Given the description of an element on the screen output the (x, y) to click on. 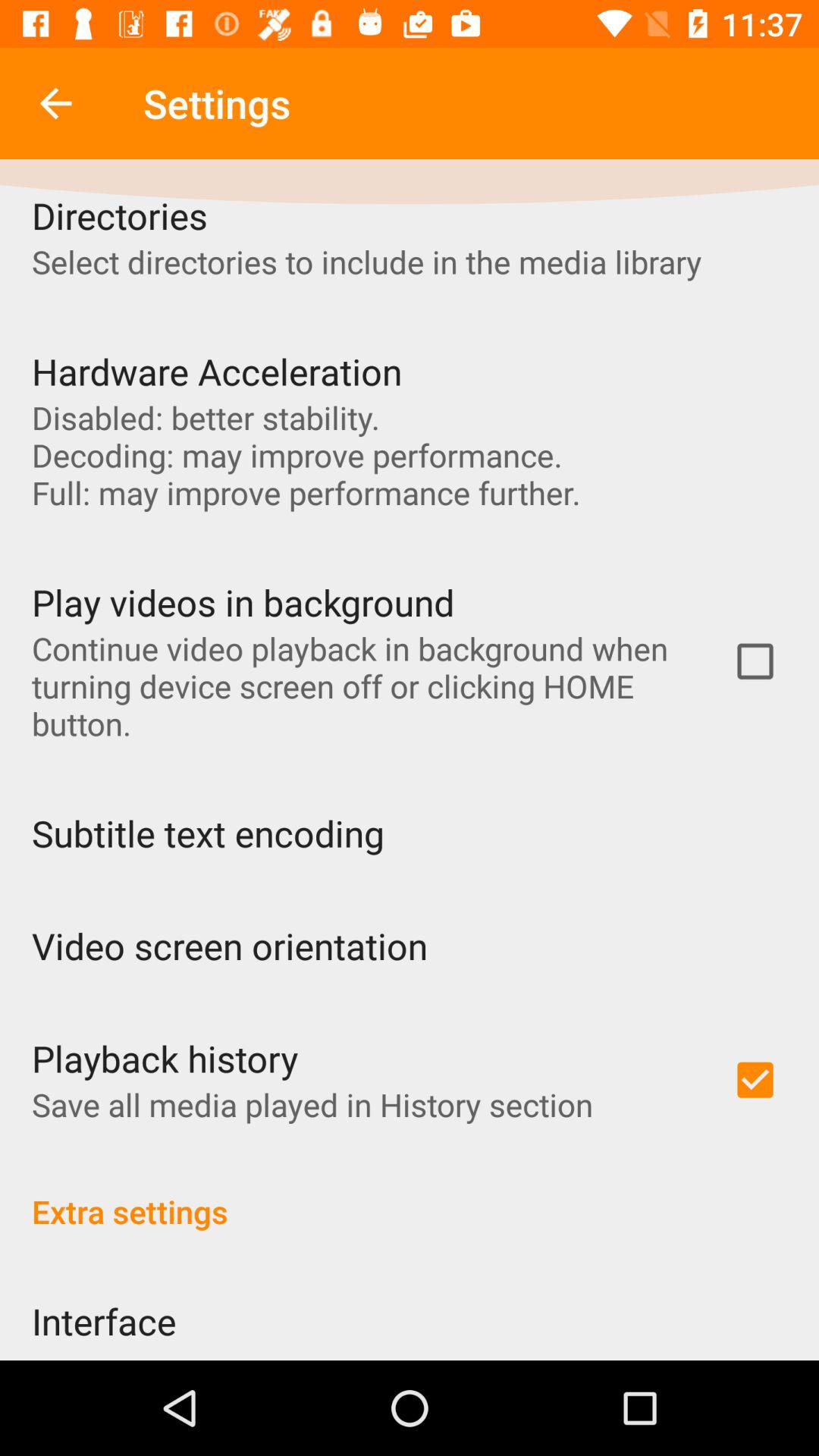
launch extra settings (409, 1195)
